Given the description of an element on the screen output the (x, y) to click on. 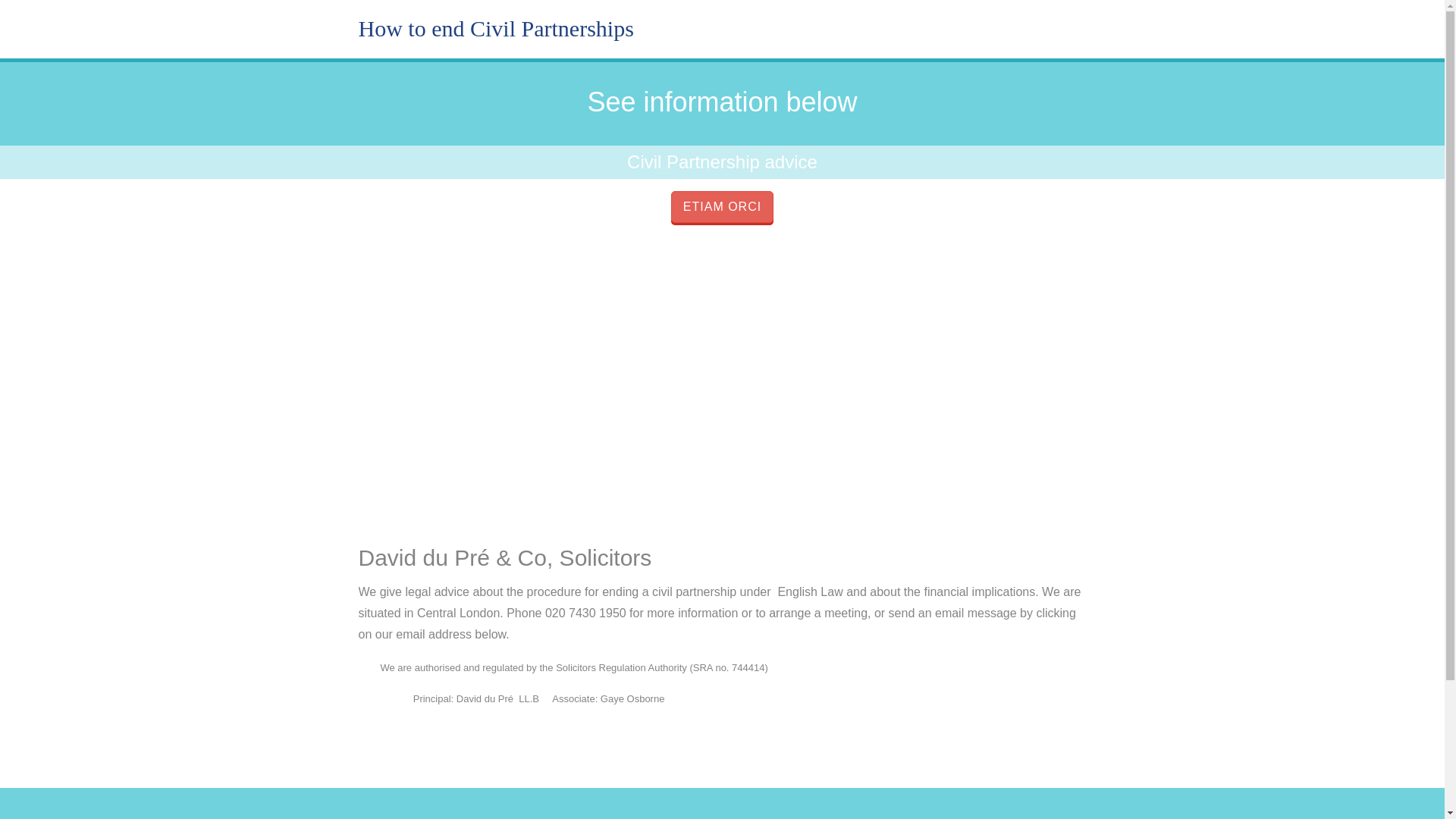
How to end Civil Partnerships (495, 27)
ETIAM ORCI (722, 206)
